Given the description of an element on the screen output the (x, y) to click on. 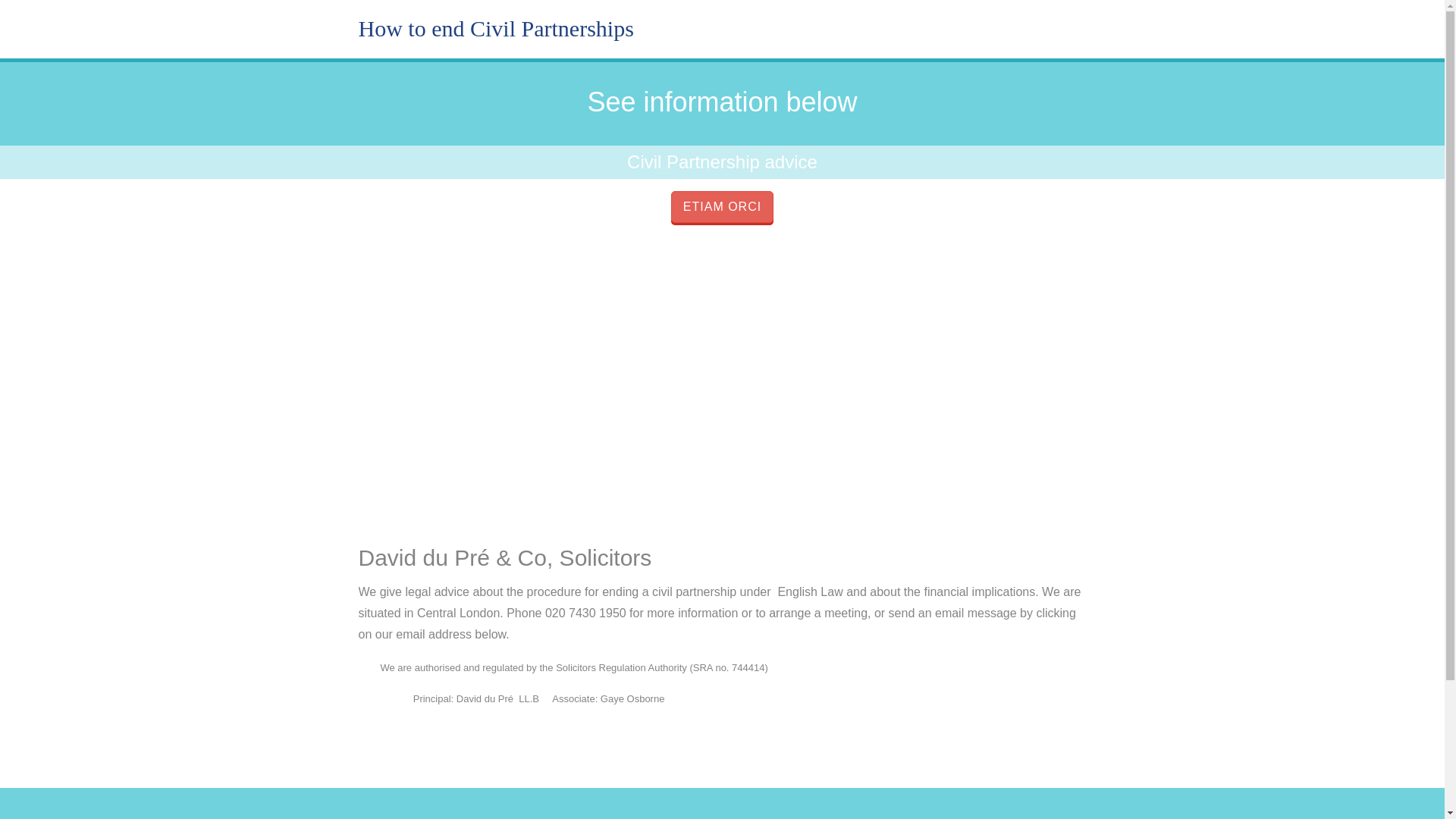
How to end Civil Partnerships (495, 27)
ETIAM ORCI (722, 206)
